Given the description of an element on the screen output the (x, y) to click on. 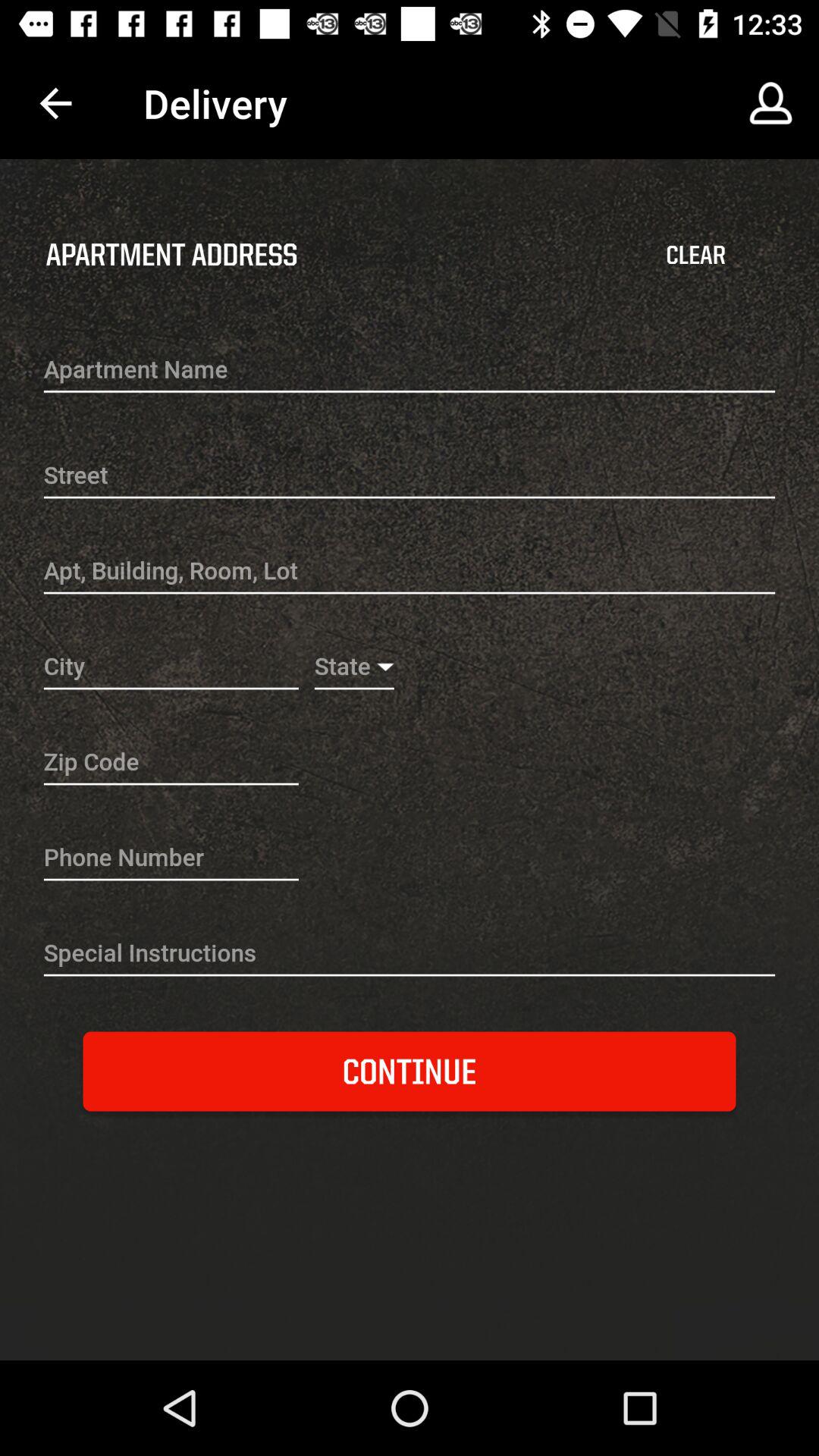
open the clear item (695, 254)
